Given the description of an element on the screen output the (x, y) to click on. 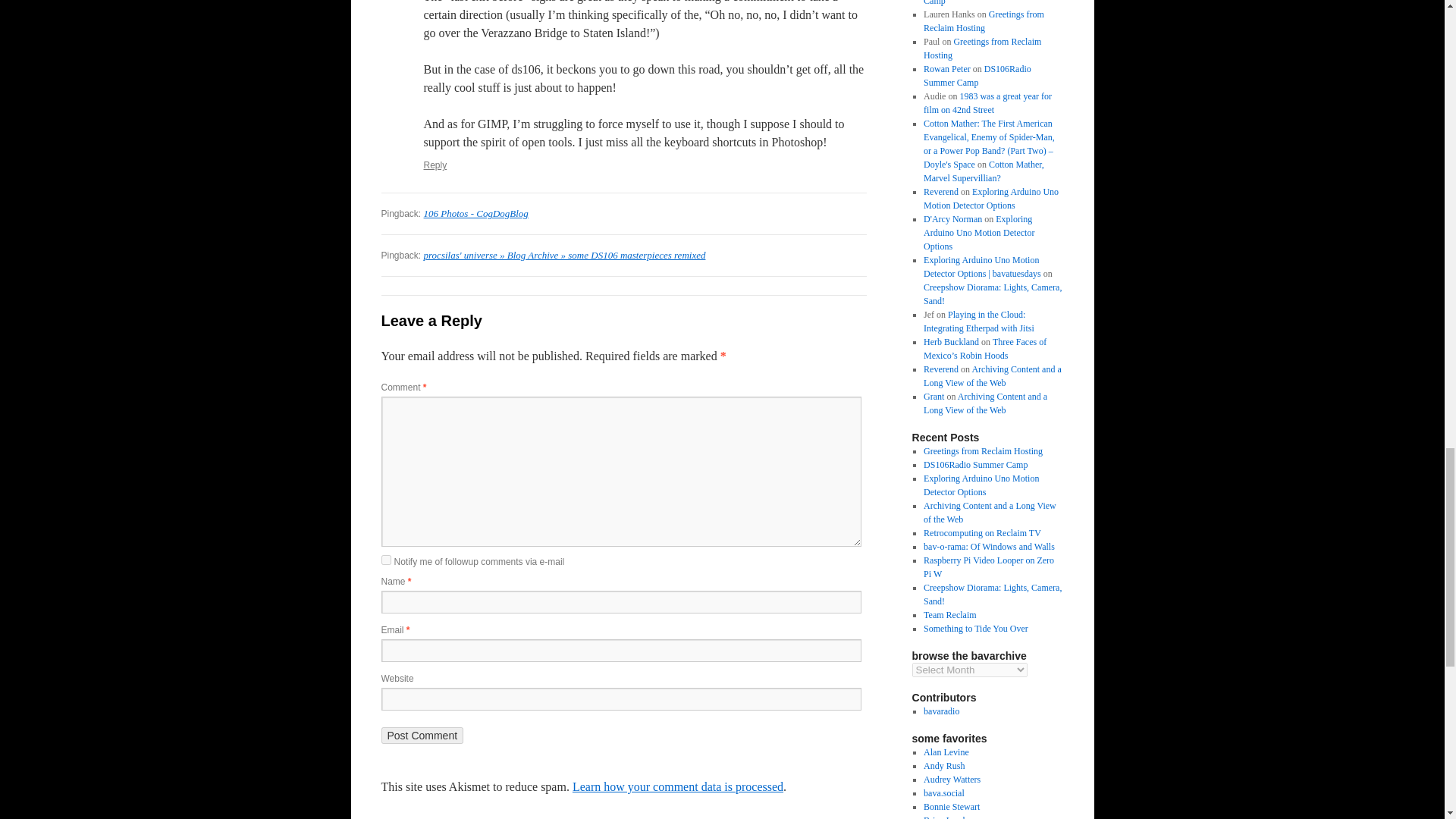
Post Comment (421, 735)
subscribe (385, 560)
bava on the radio (941, 710)
